Given the description of an element on the screen output the (x, y) to click on. 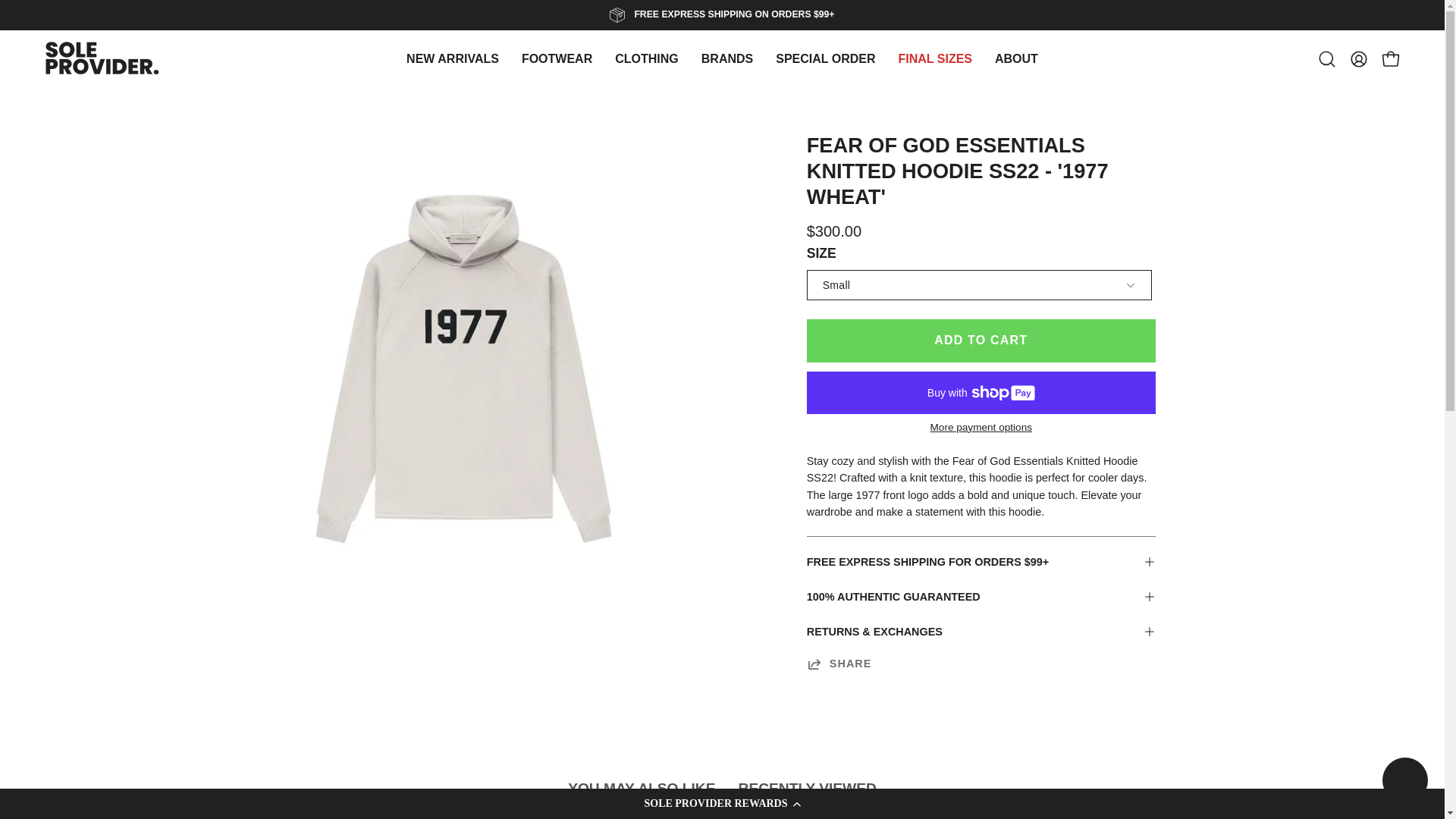
Open search bar (721, 795)
